Given the description of an element on the screen output the (x, y) to click on. 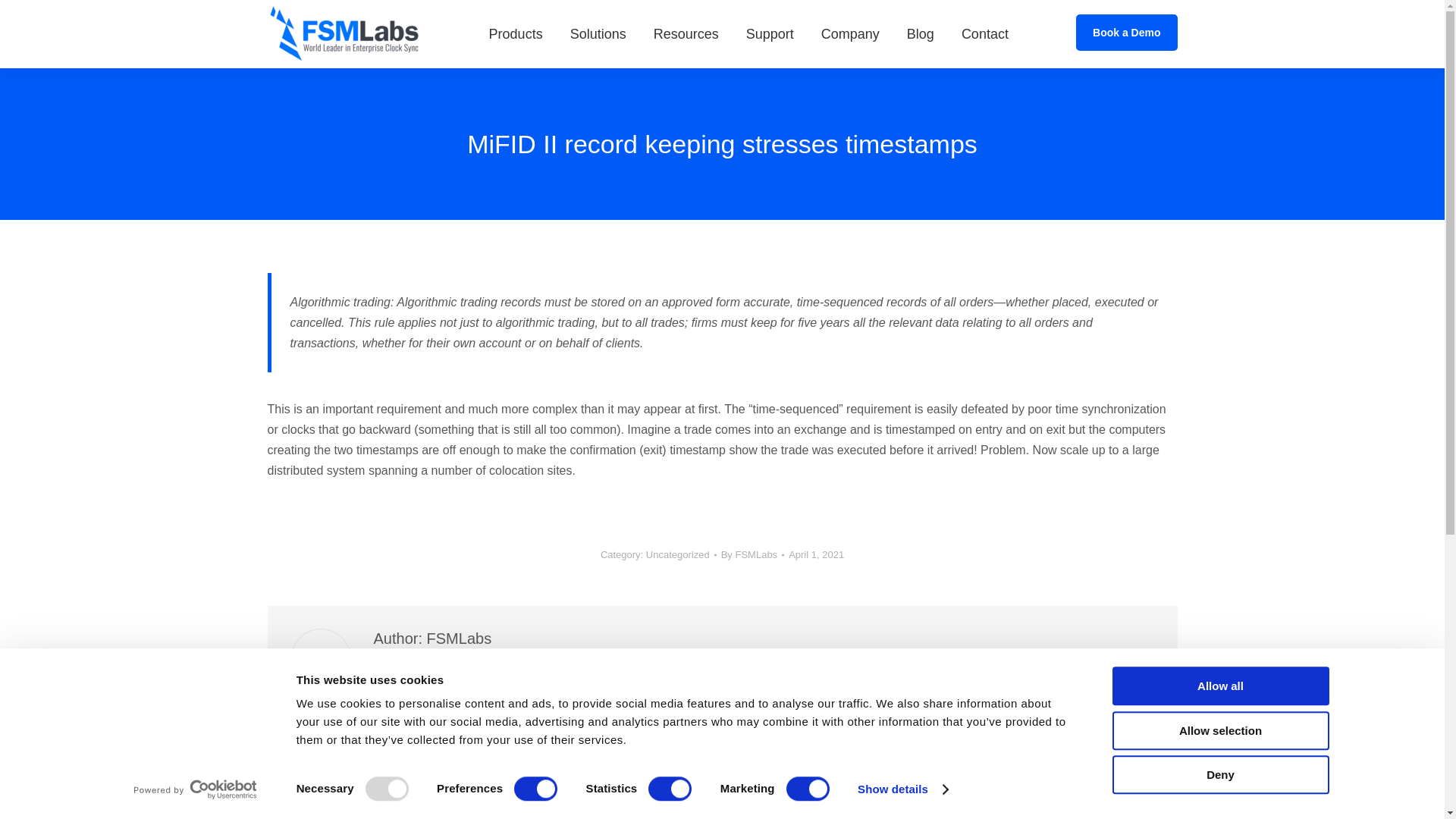
Deny (1219, 774)
3:15 pm (816, 554)
Products (516, 33)
View all posts by FSMLabs (752, 554)
Allow all (1219, 685)
Allow selection (1219, 730)
Show details (902, 789)
